Given the description of an element on the screen output the (x, y) to click on. 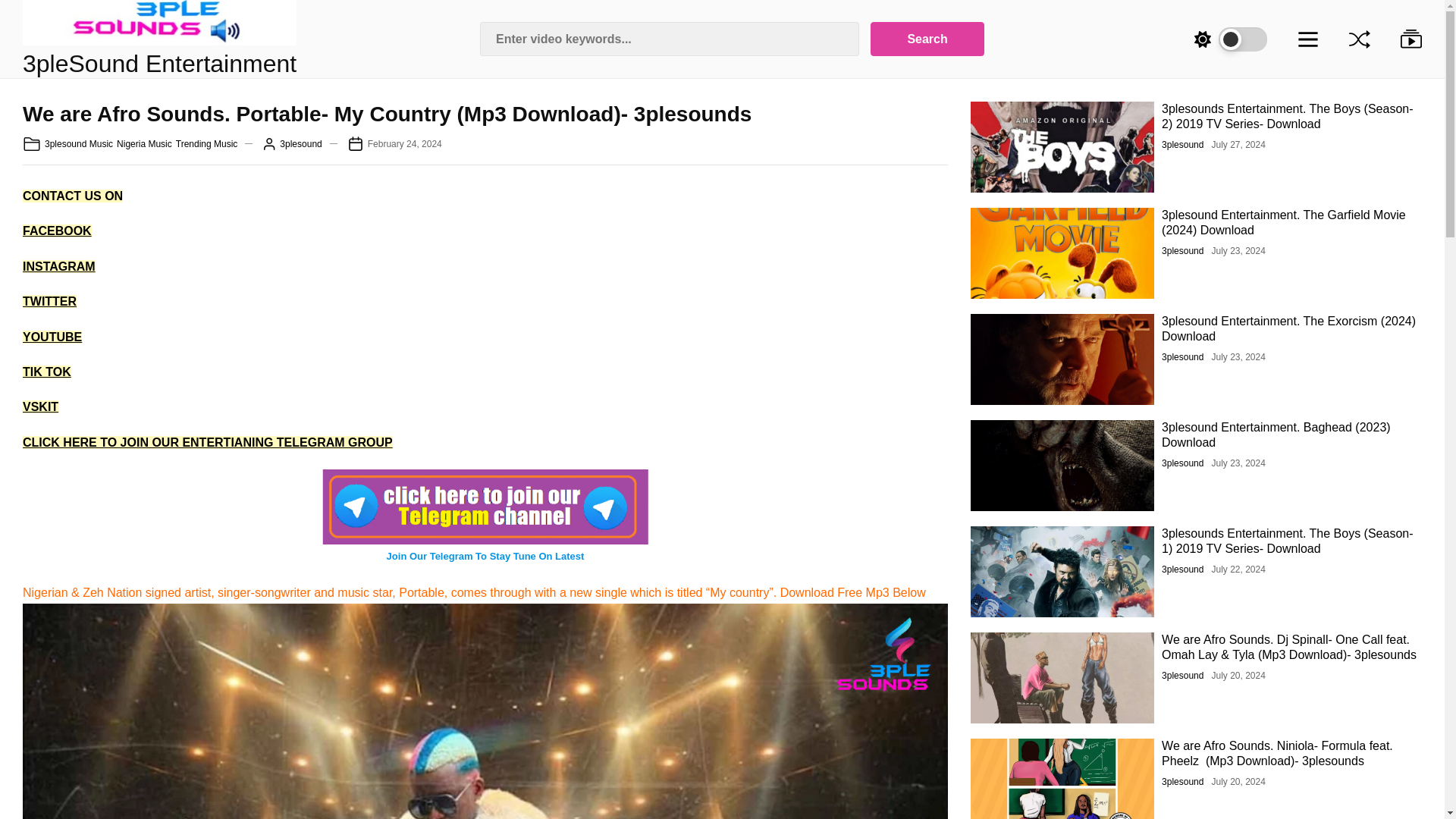
3plesound (1182, 144)
YOUTUBE (52, 336)
TWITTER (50, 300)
TIK TOK (47, 371)
3pleSound Entertainment (160, 63)
3plesound (927, 39)
February 24, 2024 (300, 144)
Nigeria Music (405, 144)
Trending Music (143, 144)
CLICK HERE TO JOIN OUR ENTERTIANING TELEGRAM GROUP (207, 144)
VSKIT (208, 441)
FACEBOOK (40, 406)
3plesound Music (57, 230)
INSTAGRAM (79, 144)
